Given the description of an element on the screen output the (x, y) to click on. 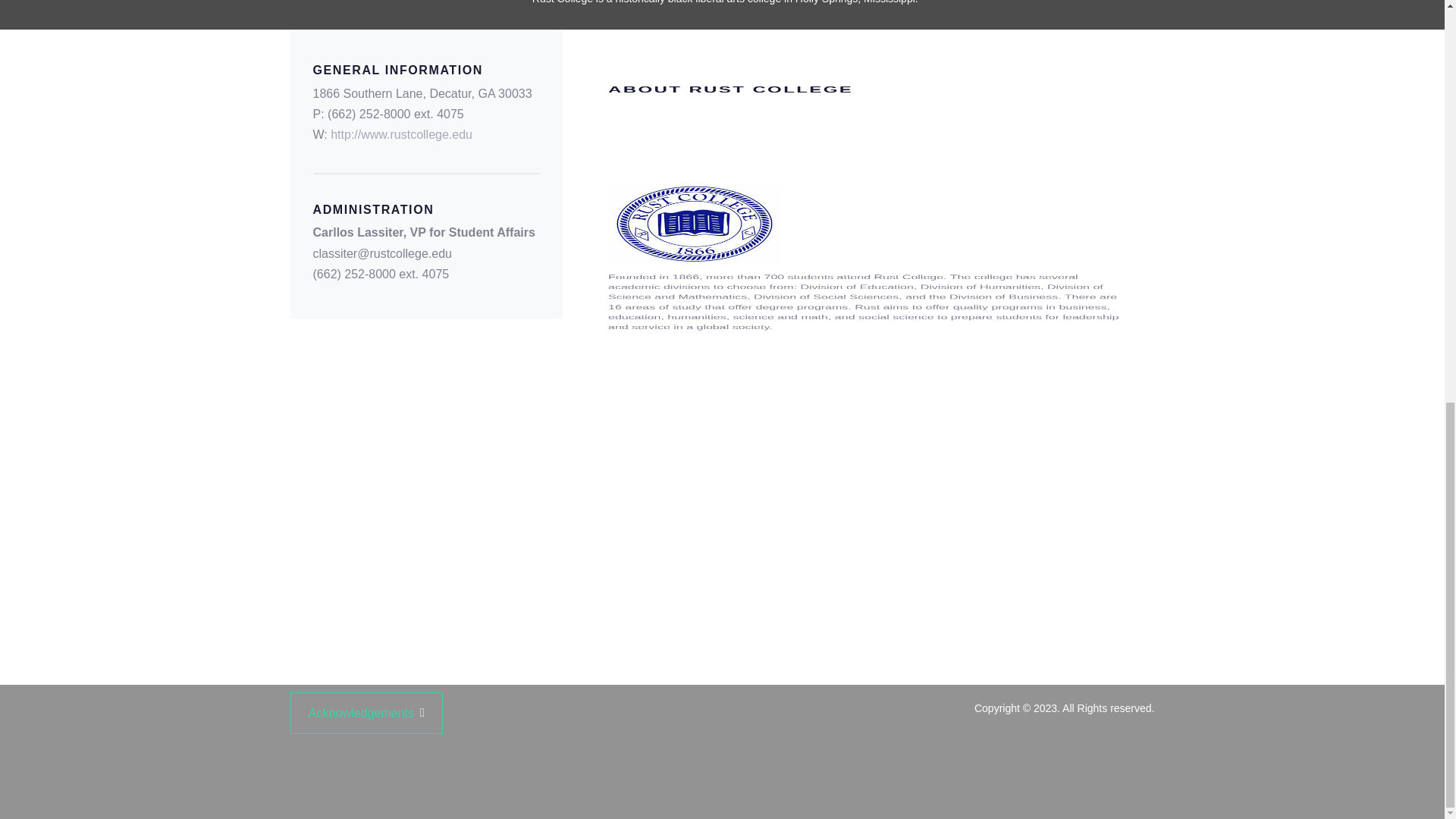
US-DOE-office-impact-diversity (1054, 772)
Naruc-logo (611, 772)
Acknowledgements (365, 712)
NUDC-logo (389, 772)
Acknowledgements (365, 712)
Ruben-Strategy-Group (833, 772)
